Given the description of an element on the screen output the (x, y) to click on. 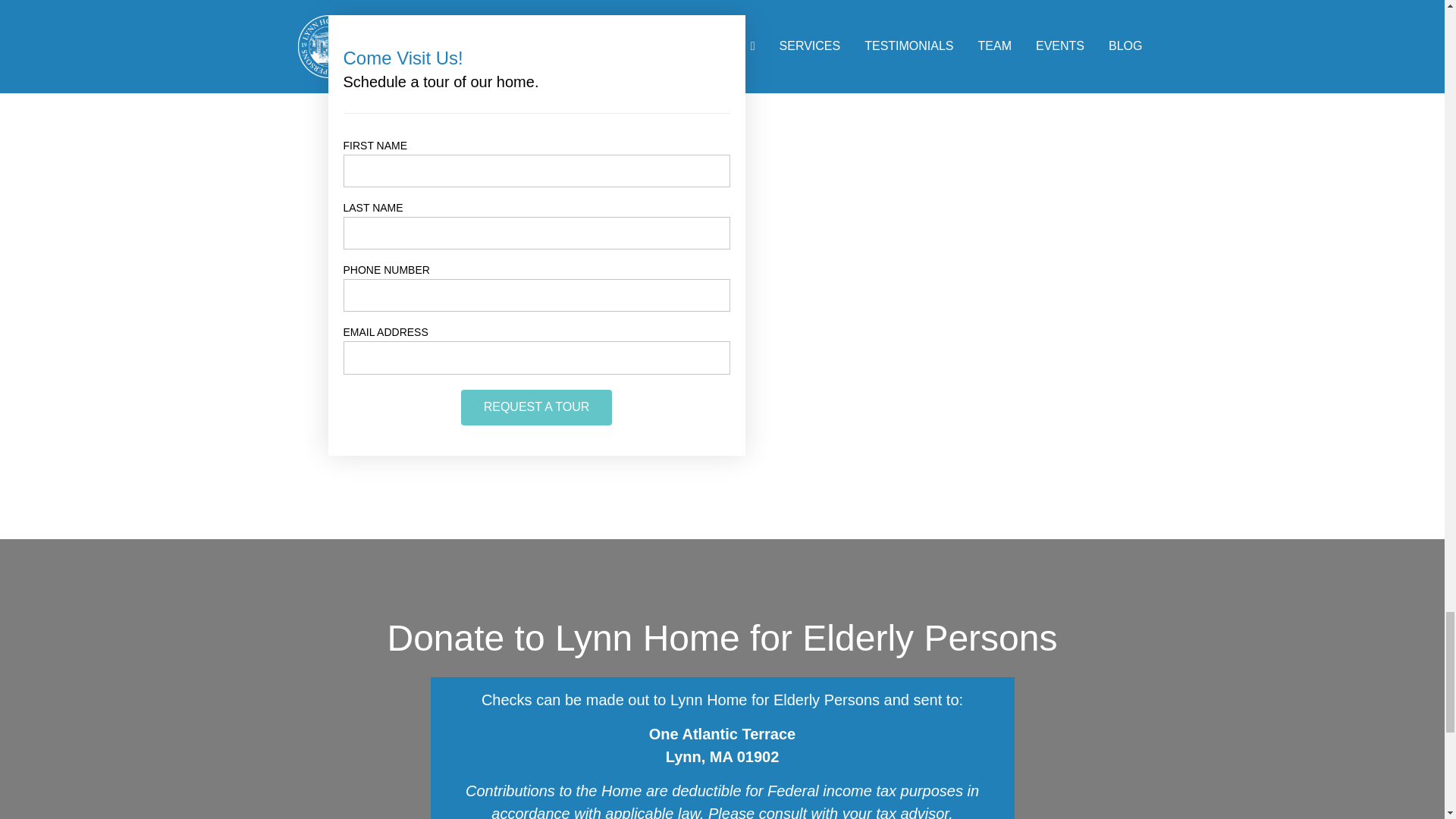
REQUEST A TOUR (536, 407)
